Given the description of an element on the screen output the (x, y) to click on. 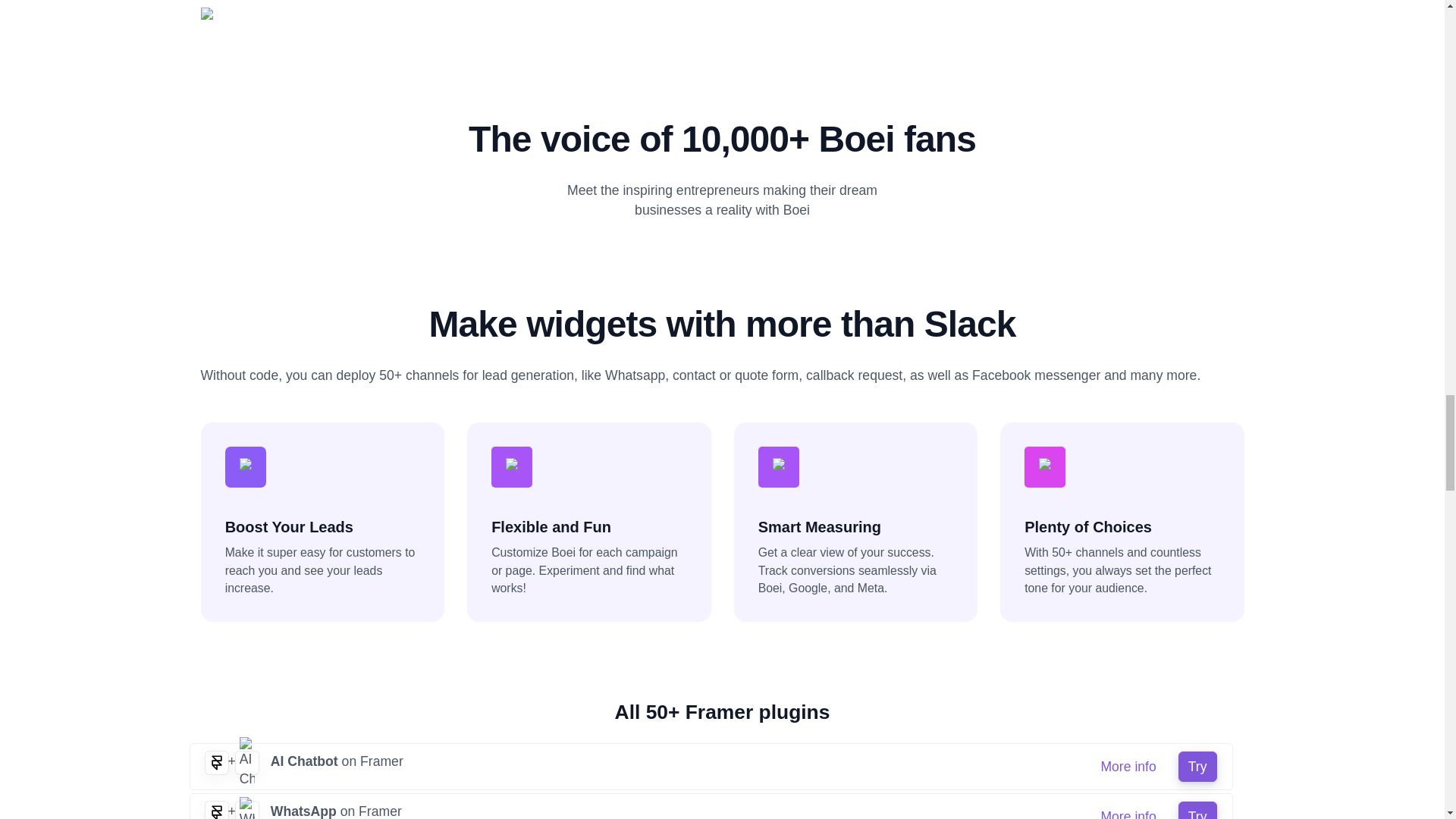
More info (1128, 810)
Next (1165, 13)
Previous (278, 13)
More info (1128, 766)
Try (1197, 810)
Try (1197, 766)
